Given the description of an element on the screen output the (x, y) to click on. 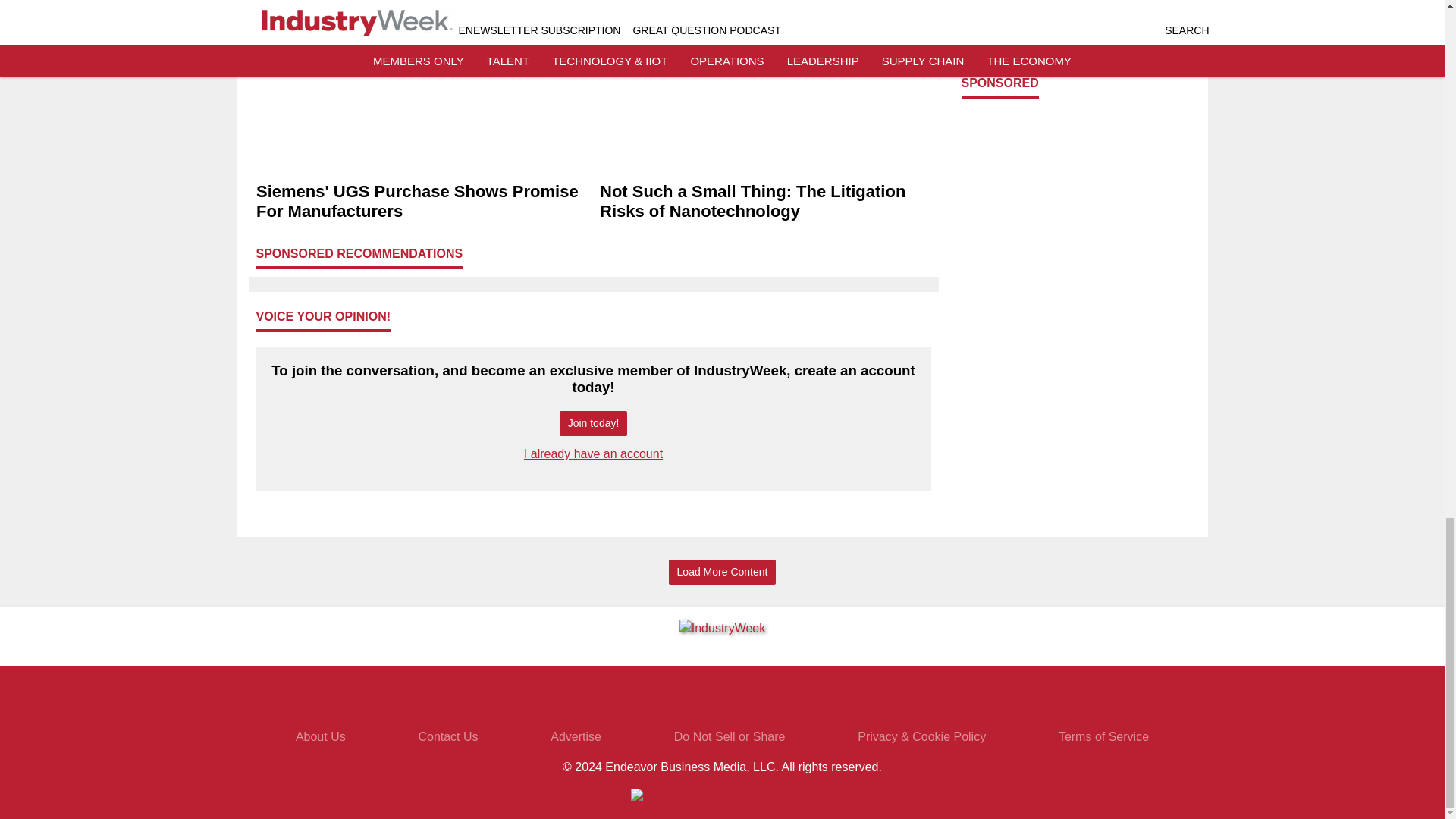
Siemens' UGS Purchase Shows Promise For Manufacturers (422, 201)
I already have an account (593, 453)
Join today! (593, 423)
